Given the description of an element on the screen output the (x, y) to click on. 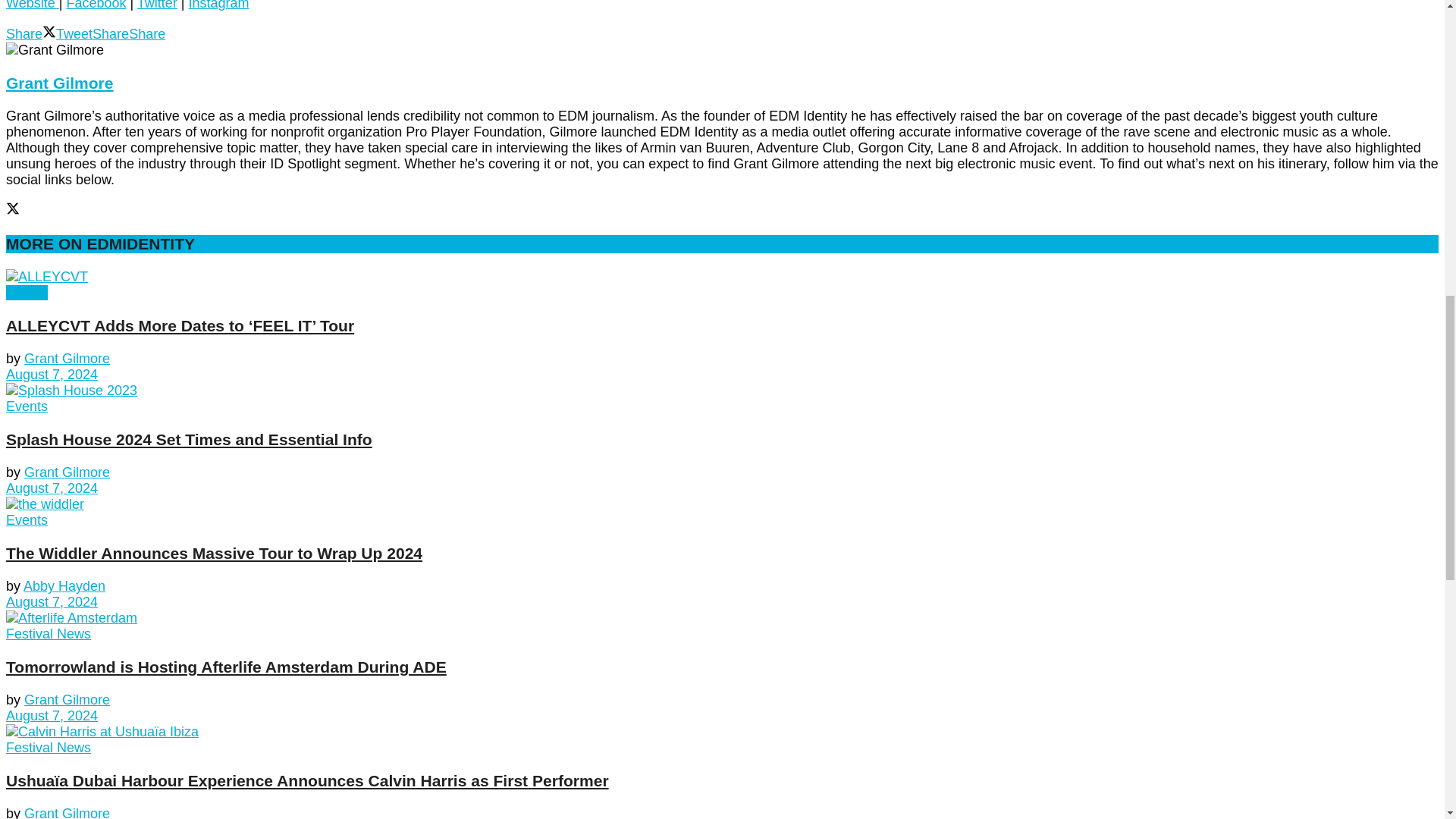
Website  (32, 5)
Instagram (218, 5)
Twitter (156, 5)
Share (111, 33)
Grant Gilmore (59, 82)
Share (147, 33)
Tweet (67, 33)
Facebook (95, 5)
Share (23, 33)
